Given the description of an element on the screen output the (x, y) to click on. 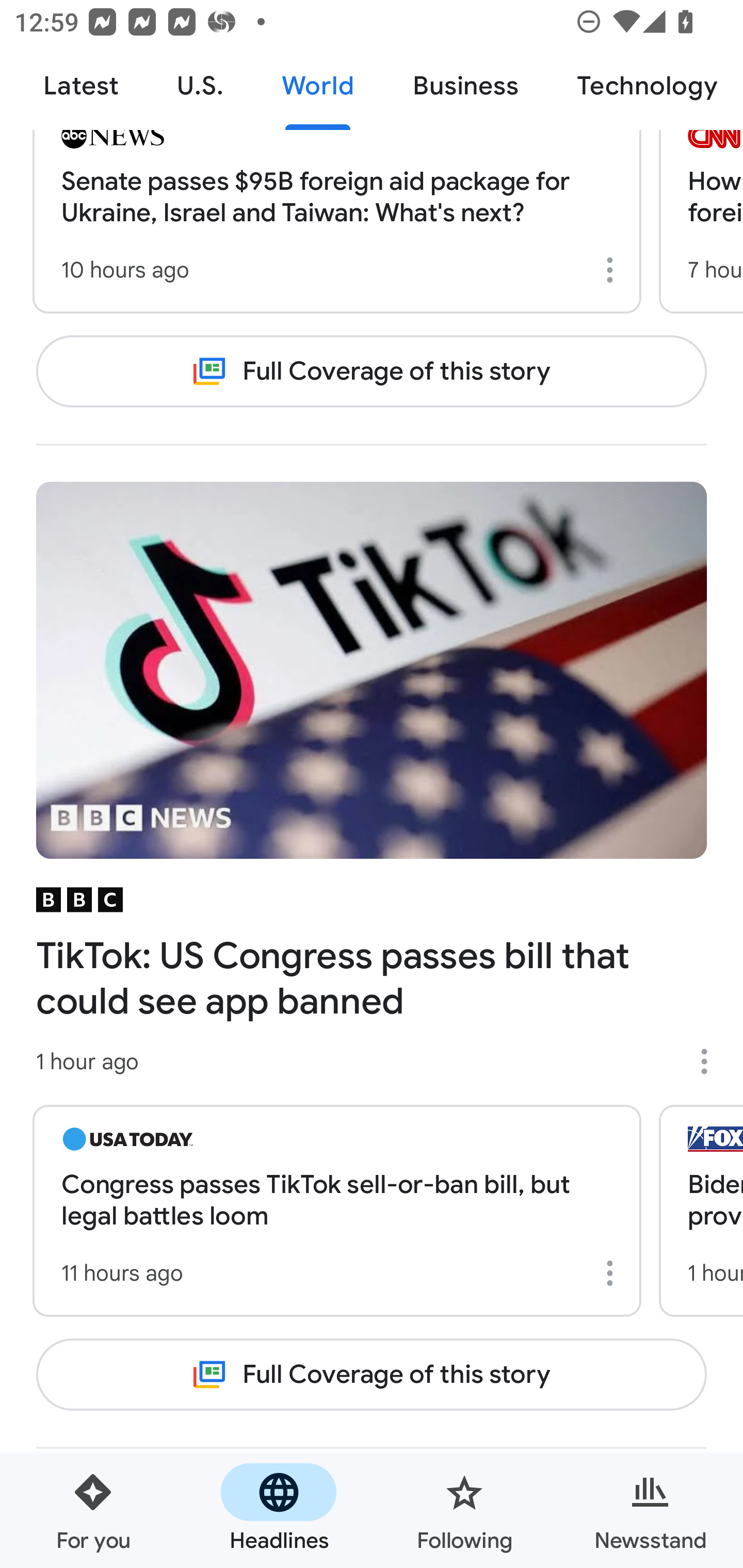
Latest (80, 86)
U.S. (199, 86)
Business (465, 86)
Technology (645, 86)
More options (613, 269)
Full Coverage of this story (371, 371)
More options (711, 1061)
More options (613, 1272)
Full Coverage of this story (371, 1375)
For you (92, 1509)
Headlines (278, 1509)
Following (464, 1509)
Newsstand (650, 1509)
